Given the description of an element on the screen output the (x, y) to click on. 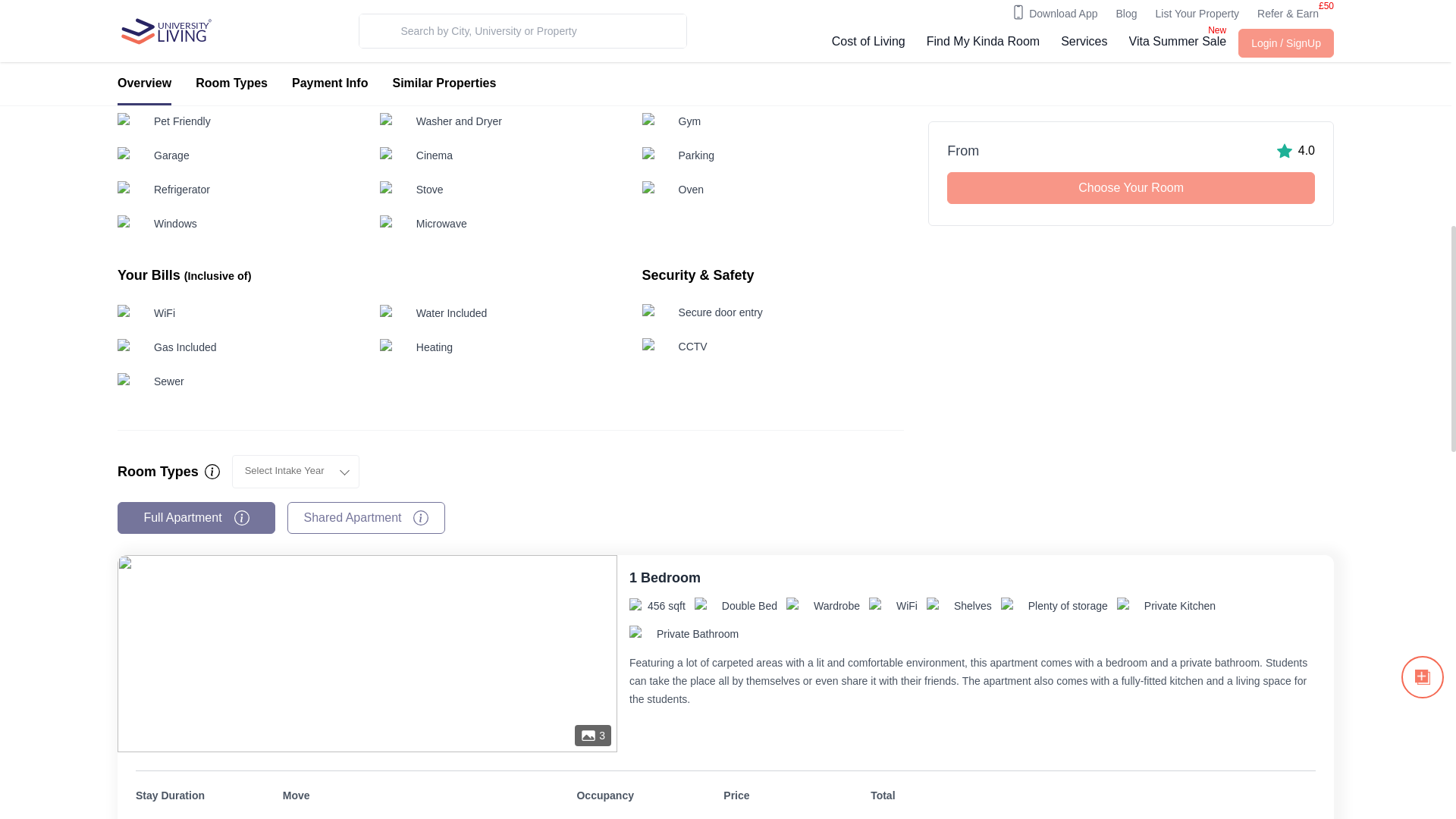
Full Apartment (196, 517)
Shared Apartment (365, 517)
